Given the description of an element on the screen output the (x, y) to click on. 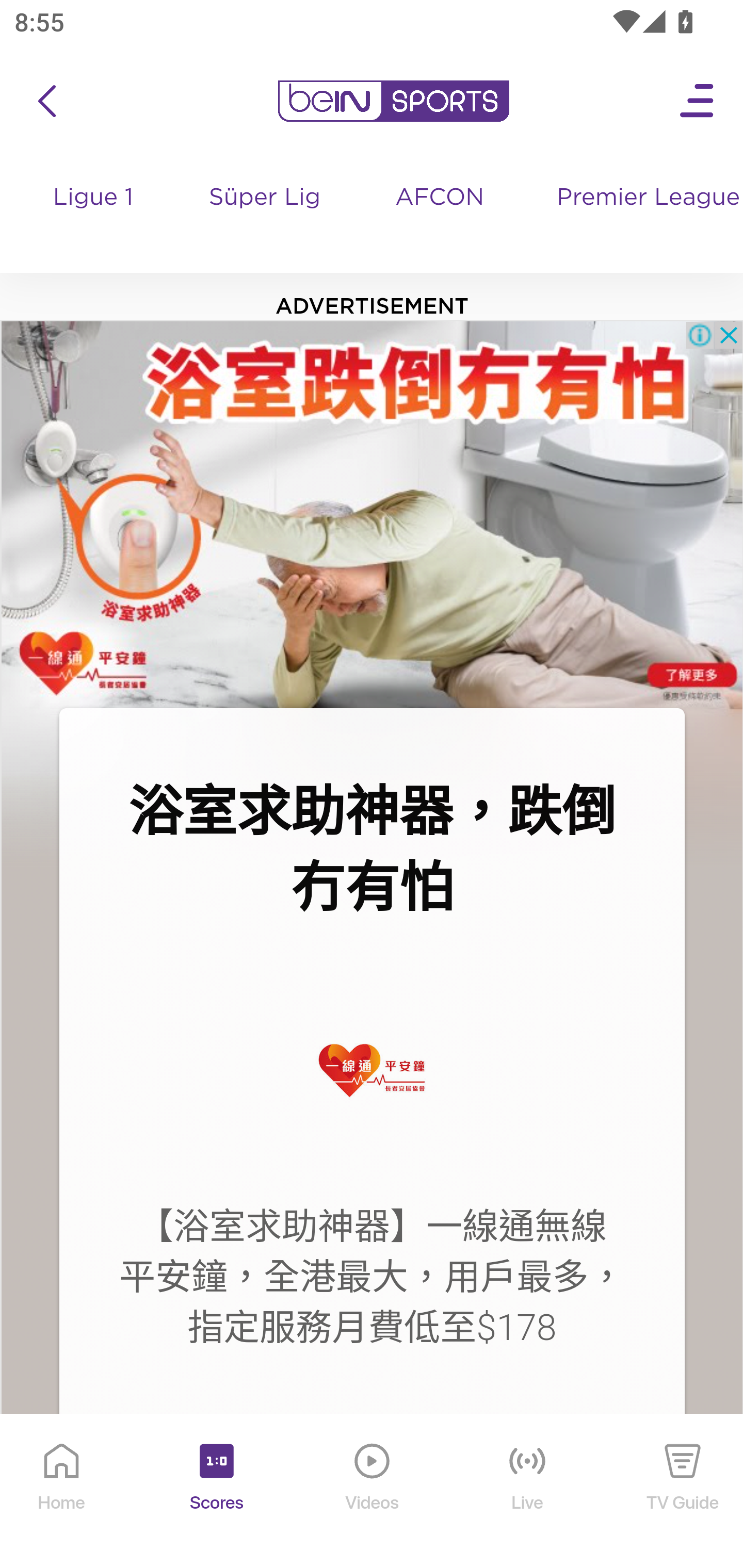
en-us?platform=mobile_android bein logo (392, 101)
icon back (46, 101)
Open Menu Icon (697, 101)
Ligue 1 (94, 216)
Süper Lig (265, 216)
AFCON (439, 198)
Premier League (642, 198)
浴室求助神器，跌倒 冇有怕 浴室求助神器，跌倒 冇有怕 (371, 849)
Home Home Icon Home (61, 1491)
Scores Scores Icon Scores (216, 1491)
TV Guide TV Guide Icon TV Guide (682, 1491)
